Given the description of an element on the screen output the (x, y) to click on. 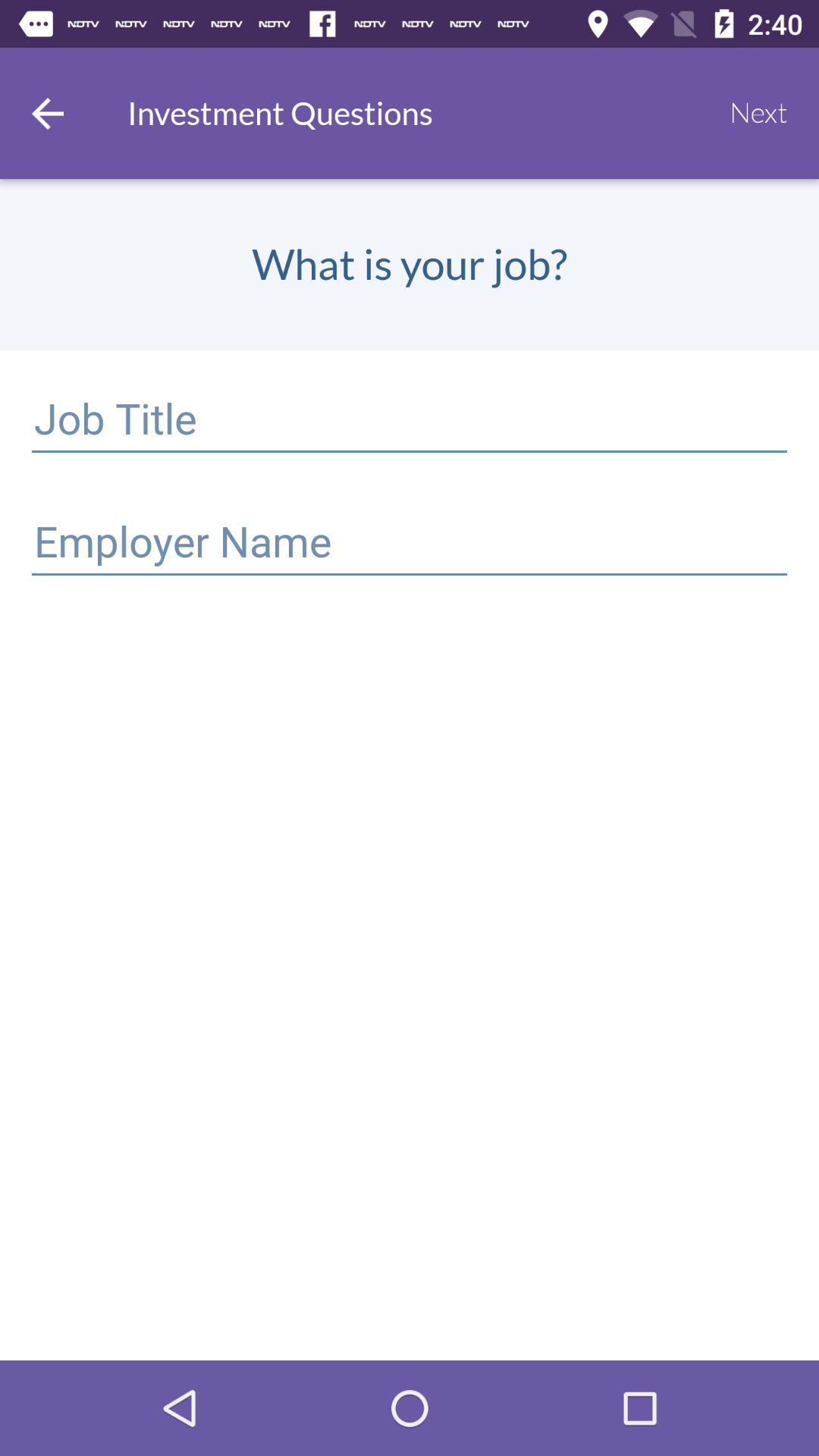
jump until next item (758, 113)
